Given the description of an element on the screen output the (x, y) to click on. 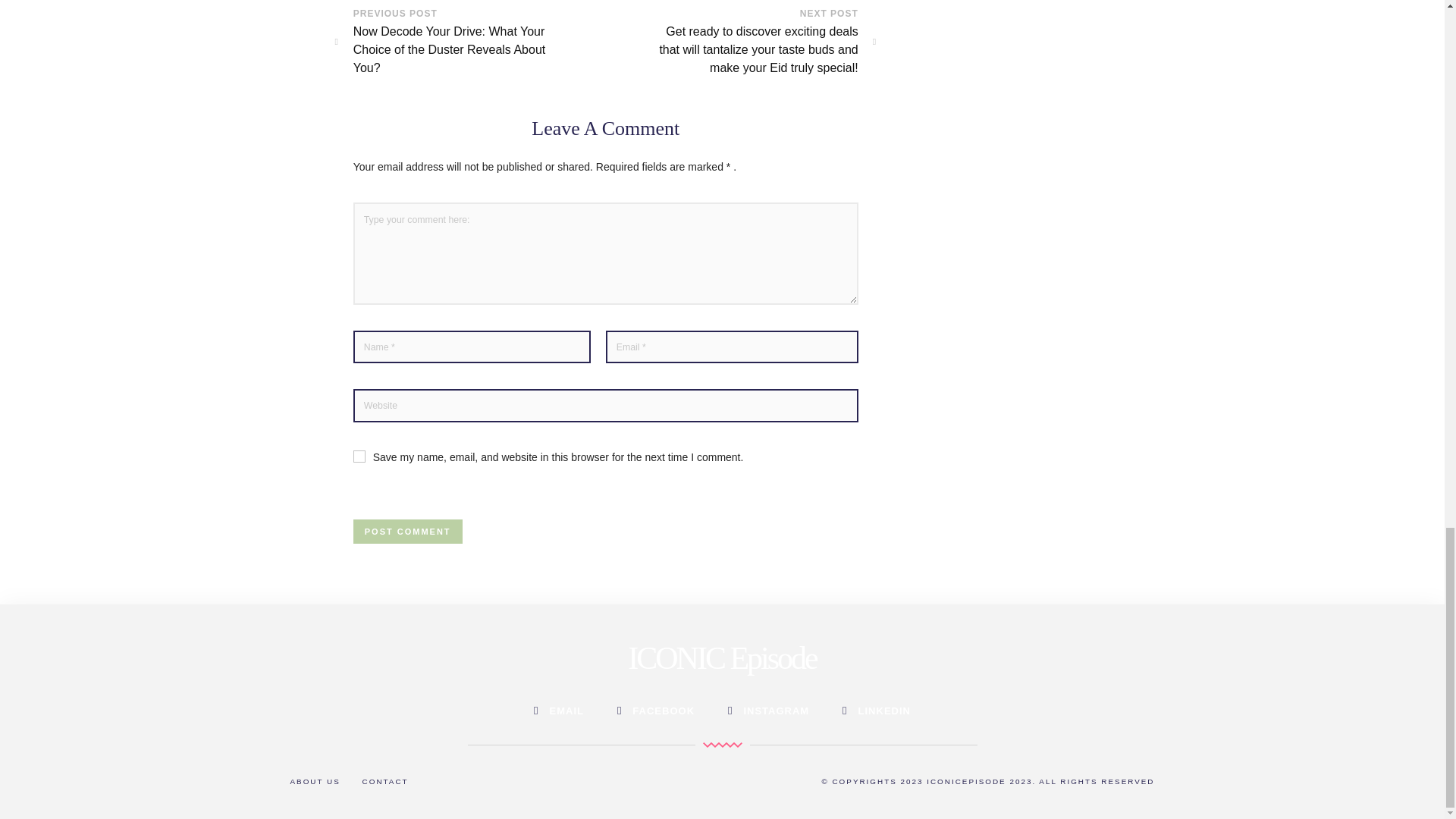
yes (359, 456)
Post Comment (408, 531)
Post Comment (408, 531)
